Given the description of an element on the screen output the (x, y) to click on. 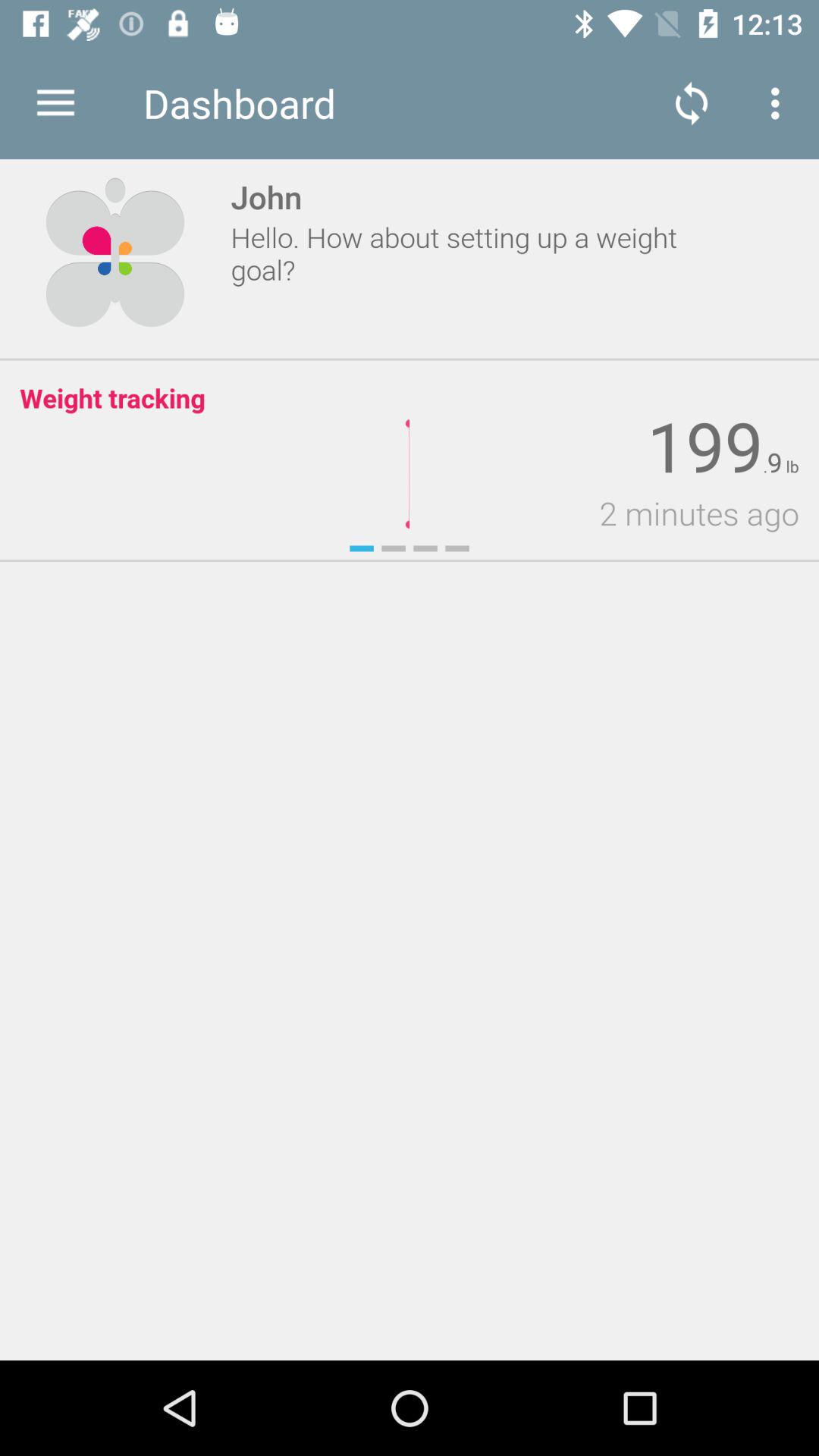
swipe to 2 minutes ago (604, 512)
